Given the description of an element on the screen output the (x, y) to click on. 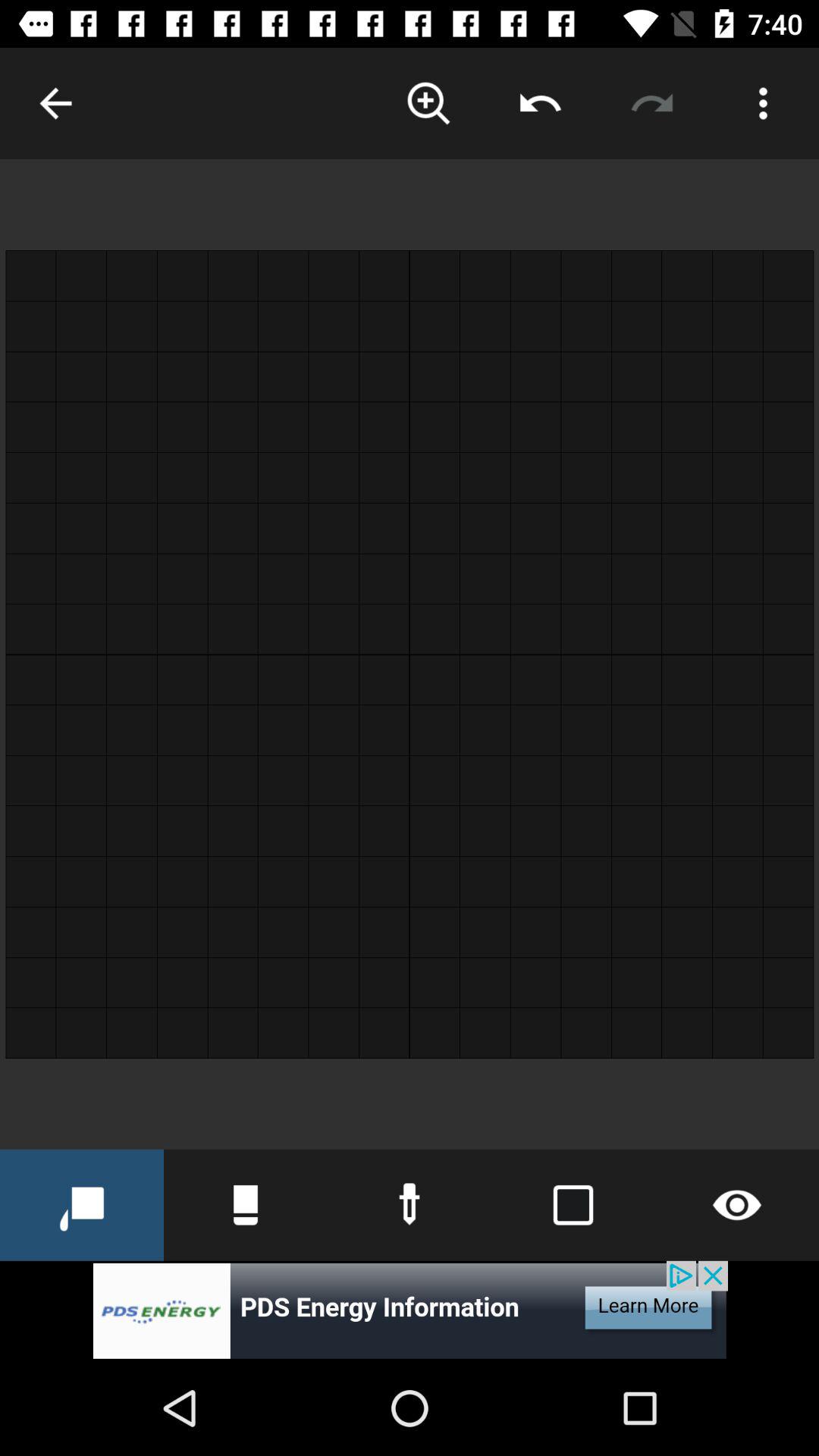
menu for more actions (763, 103)
